Given the description of an element on the screen output the (x, y) to click on. 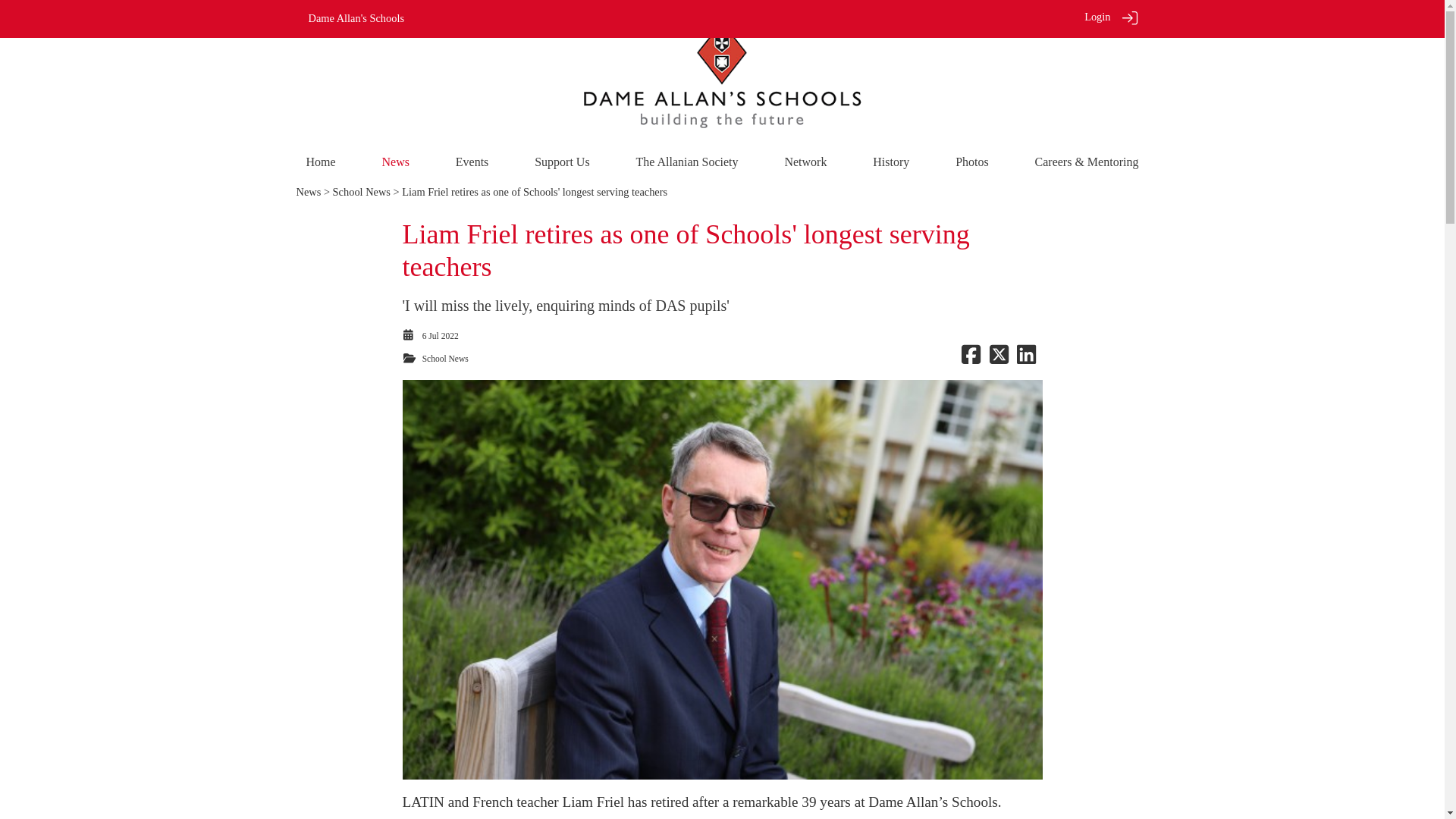
Share on Facebook (969, 358)
Home (320, 161)
News (395, 161)
History (890, 161)
Share on Twitter (997, 358)
The Allanian Society (686, 161)
Support Us (561, 161)
Photos (971, 161)
Login (1096, 16)
Events (472, 161)
